Given the description of an element on the screen output the (x, y) to click on. 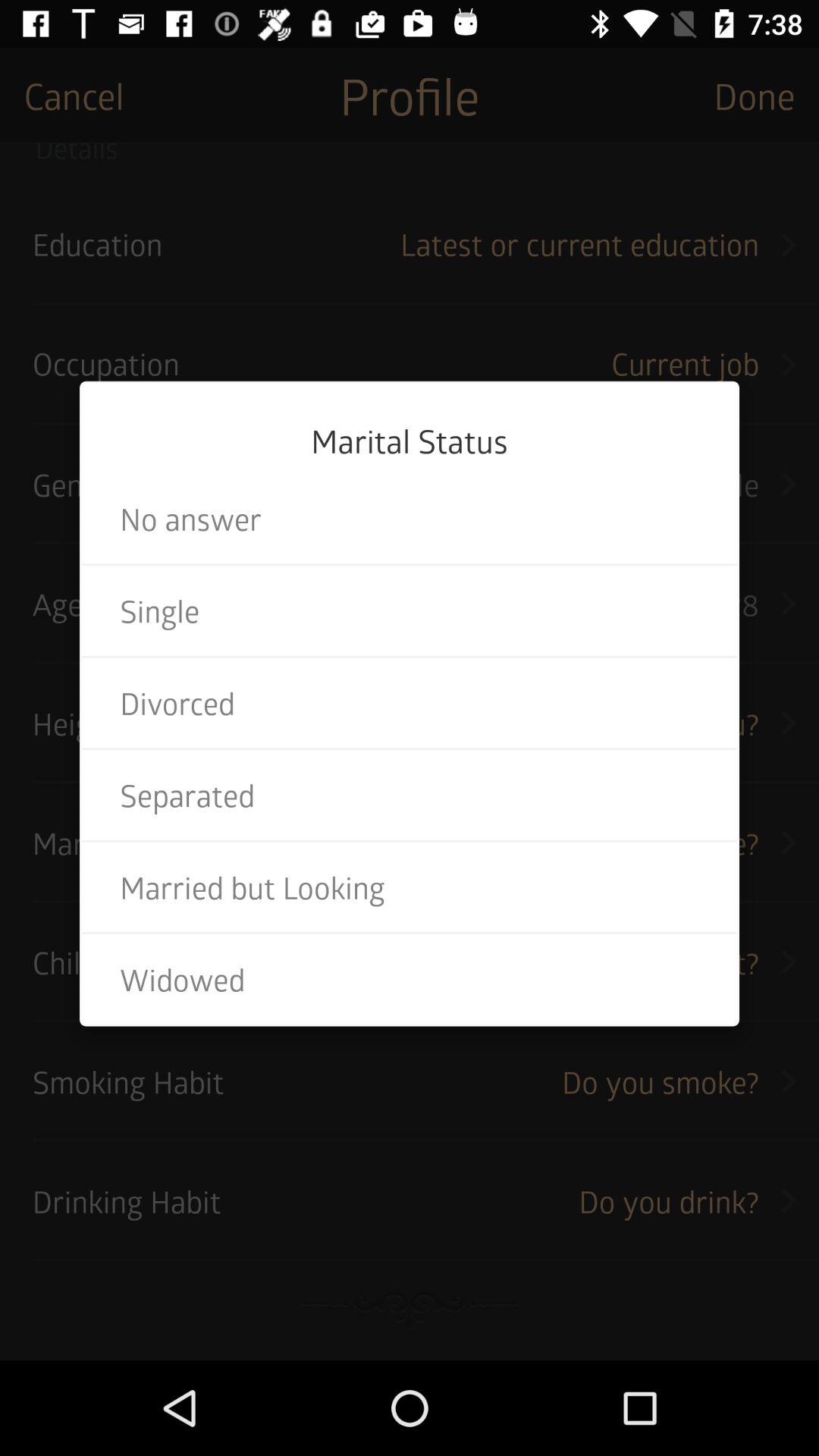
press the icon below married but looking item (409, 979)
